Given the description of an element on the screen output the (x, y) to click on. 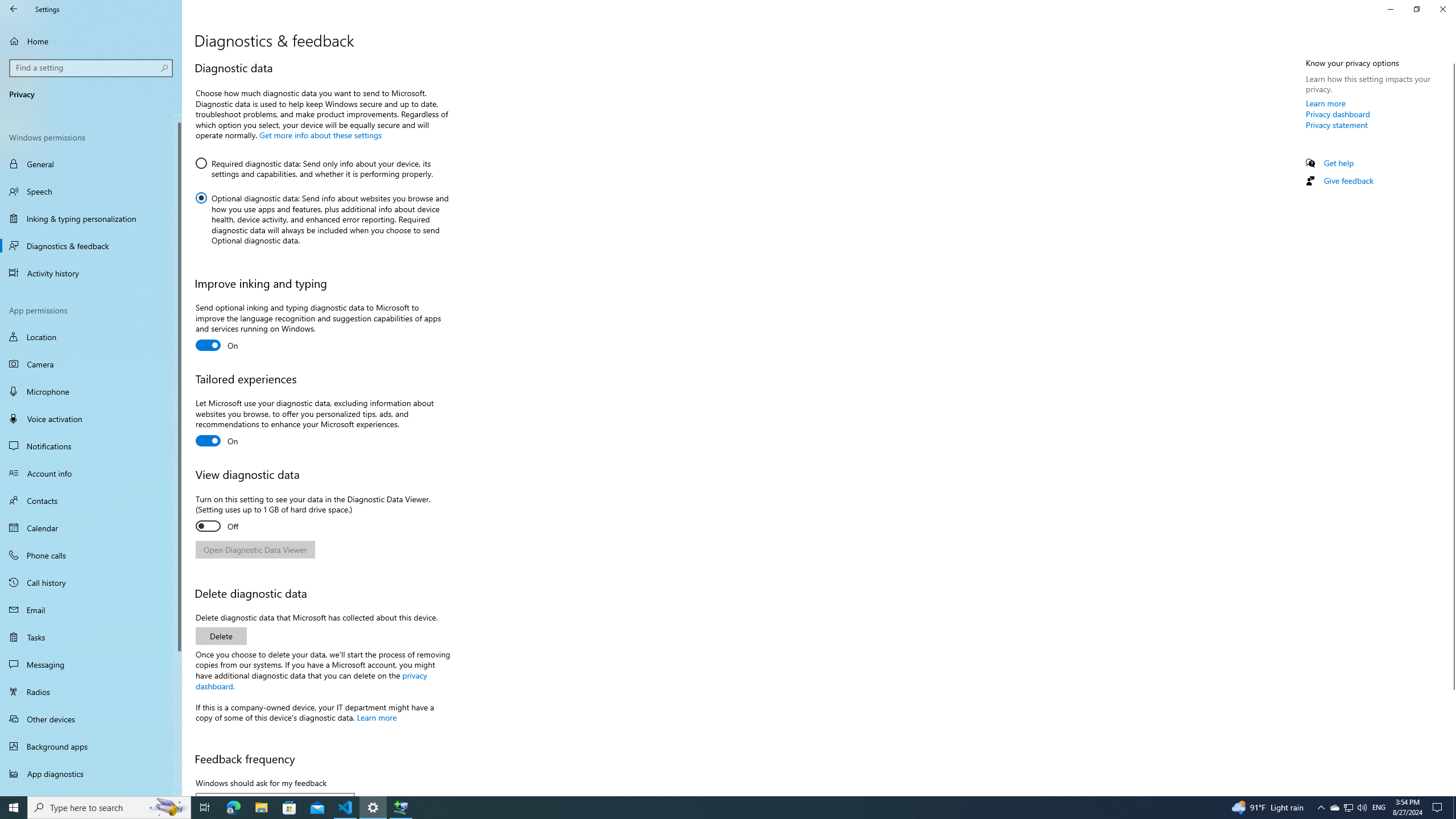
App diagnostics (91, 773)
Q2790: 100% (1361, 807)
Minimize Settings (1390, 9)
Get more info about these settings (320, 134)
Diagnostics & feedback (91, 245)
Other devices (91, 718)
Radios (91, 691)
Type here to search (108, 807)
Notifications (91, 445)
Microphone (91, 390)
Learn more (1326, 102)
Microsoft Store (289, 807)
Privacy statement (1336, 124)
Search highlights icon opens search home window (167, 807)
